Given the description of an element on the screen output the (x, y) to click on. 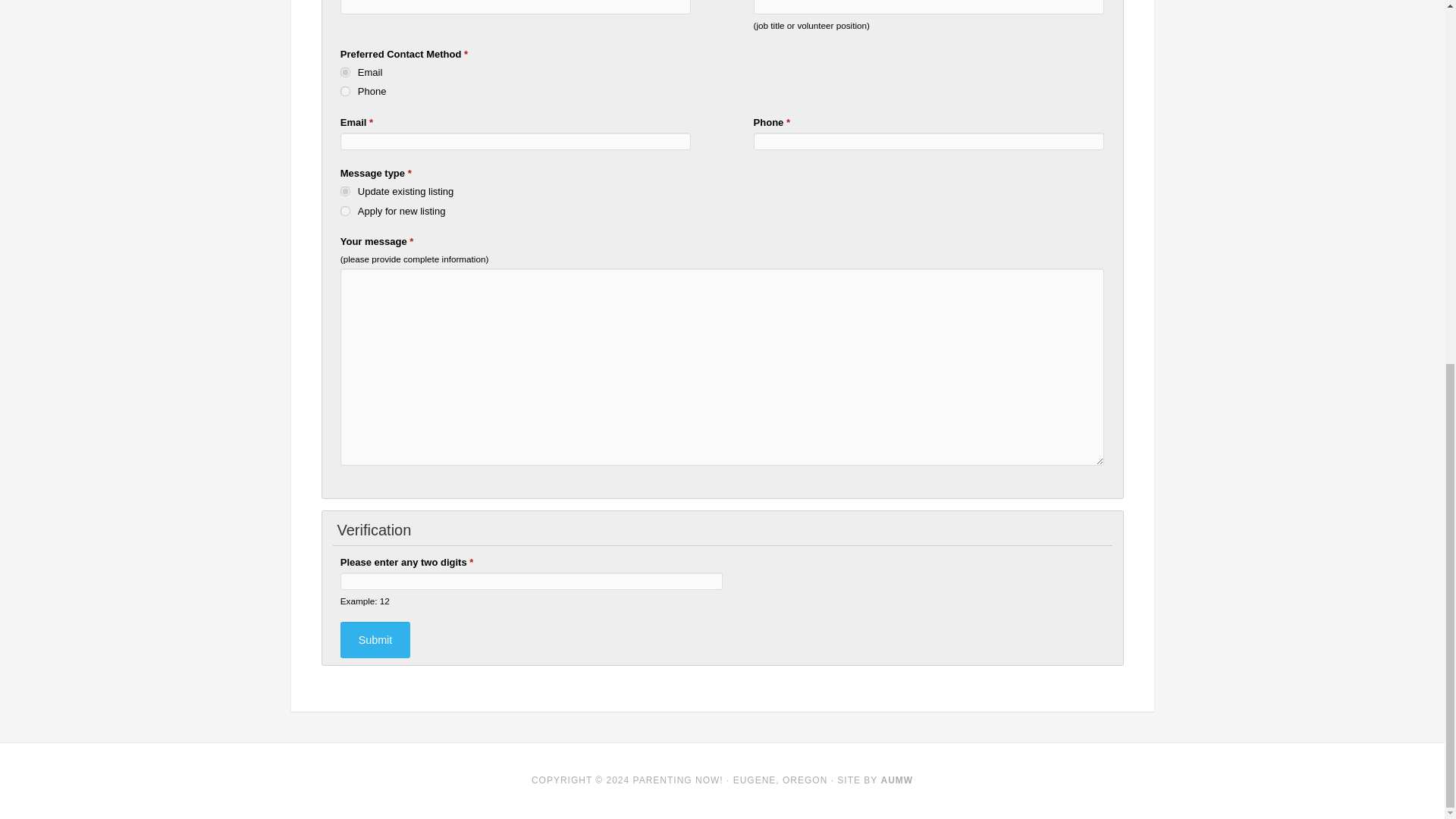
Phone (345, 91)
AUMW (896, 779)
Update existing listing (345, 191)
Submit (375, 639)
Submit (375, 639)
Email (345, 71)
Apply for new listing (345, 211)
